Given the description of an element on the screen output the (x, y) to click on. 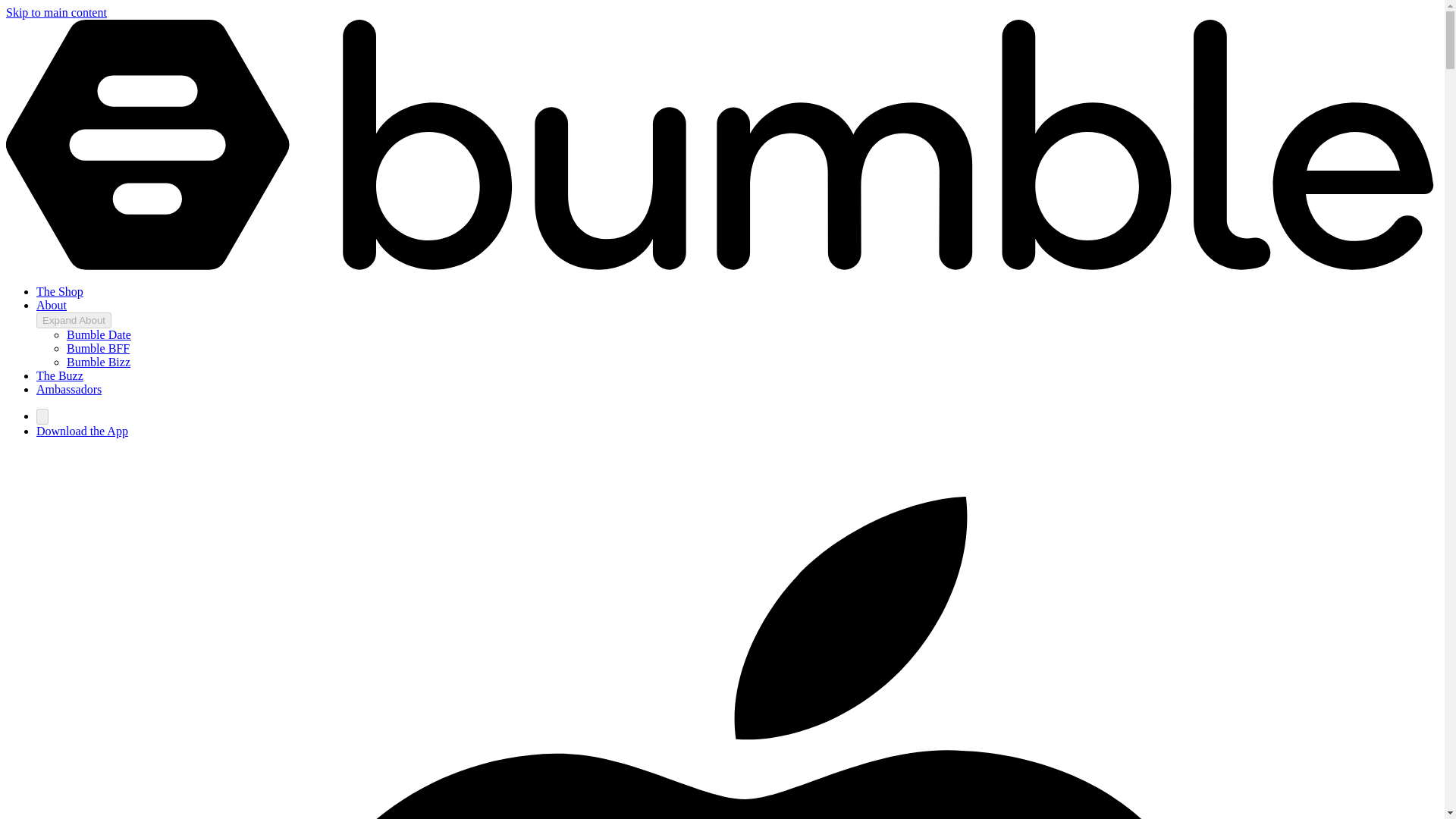
Skip to main content (55, 11)
Bumble Bizz (98, 361)
Ambassadors (68, 389)
Bumble Date (98, 334)
Bumble BFF (97, 348)
Expand About (74, 320)
About (51, 305)
Download the App (82, 431)
The Shop (59, 291)
The Buzz (59, 375)
